Given the description of an element on the screen output the (x, y) to click on. 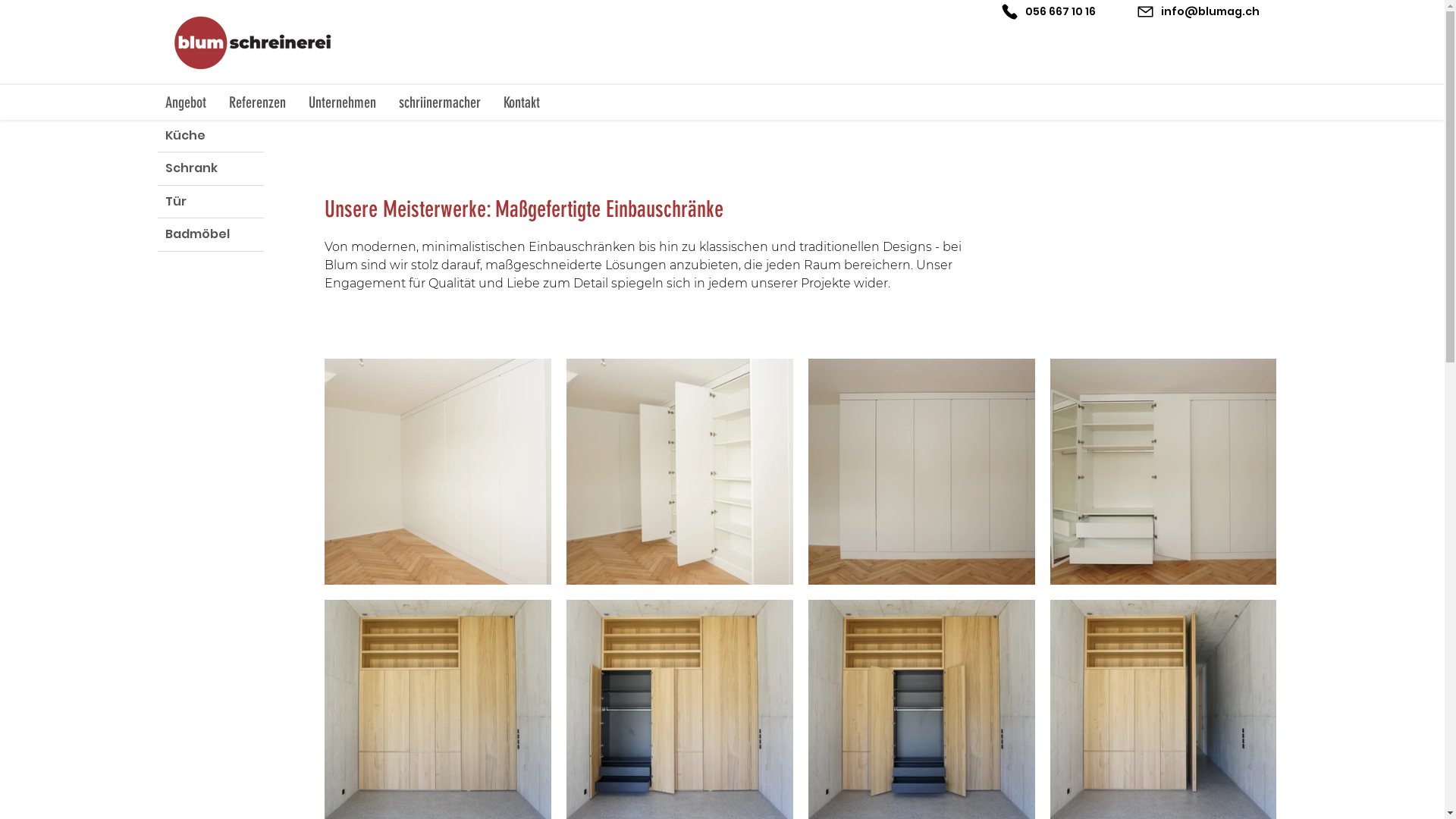
info@blumag.ch Element type: text (1200, 11)
056 667 10 16 Element type: text (1051, 11)
Kontakt Element type: text (520, 102)
schriinermacher Element type: text (438, 102)
Referenzen Element type: text (256, 102)
Angebot Element type: text (184, 102)
Unternehmen Element type: text (342, 102)
Schrank Element type: text (210, 168)
